Given the description of an element on the screen output the (x, y) to click on. 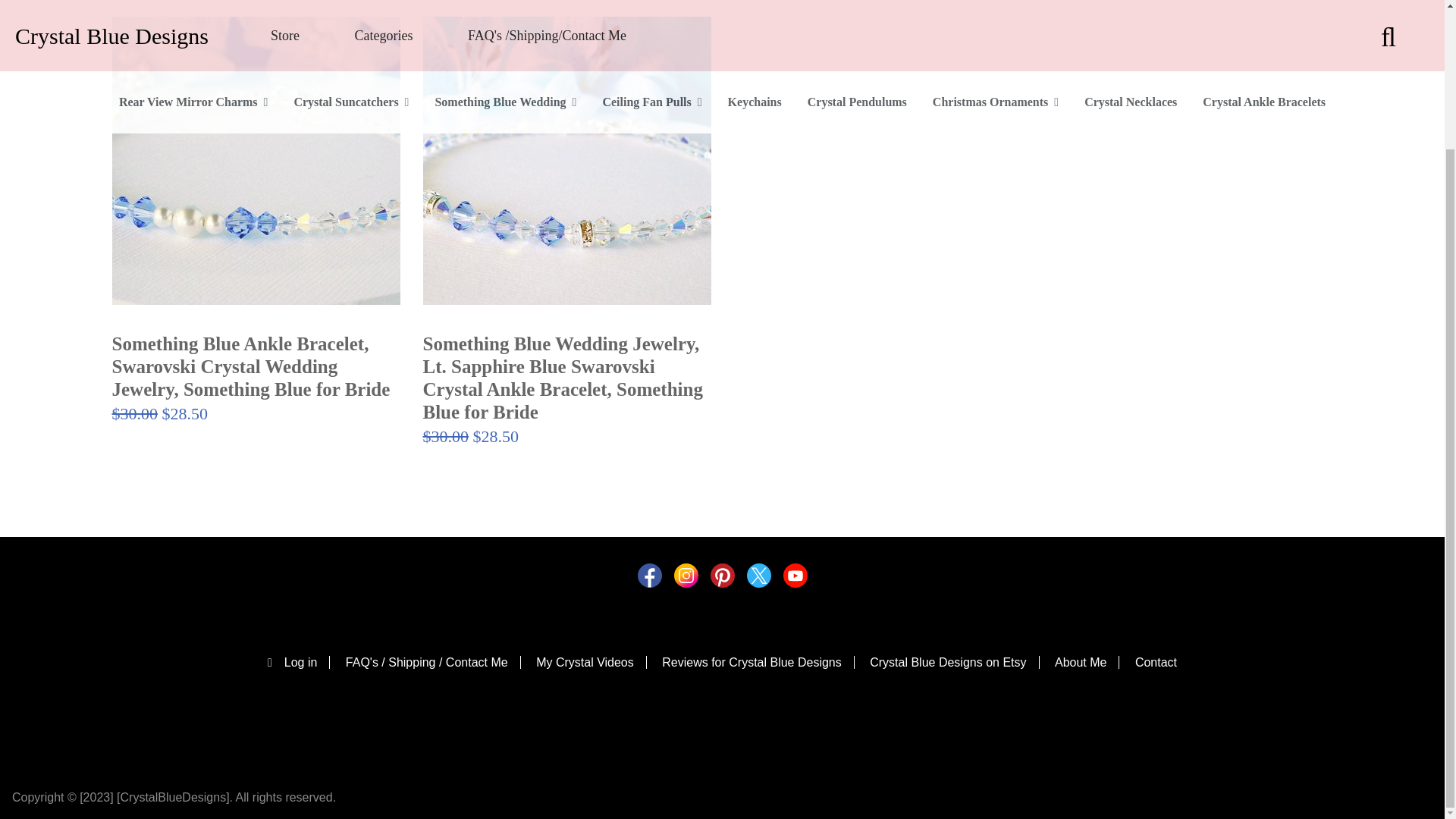
My Crystal Videos (590, 662)
Crystal Blue Designs on Etsy (954, 662)
Log in (298, 662)
About Me (1086, 662)
Reviews for Crystal Blue Designs (758, 662)
